Given the description of an element on the screen output the (x, y) to click on. 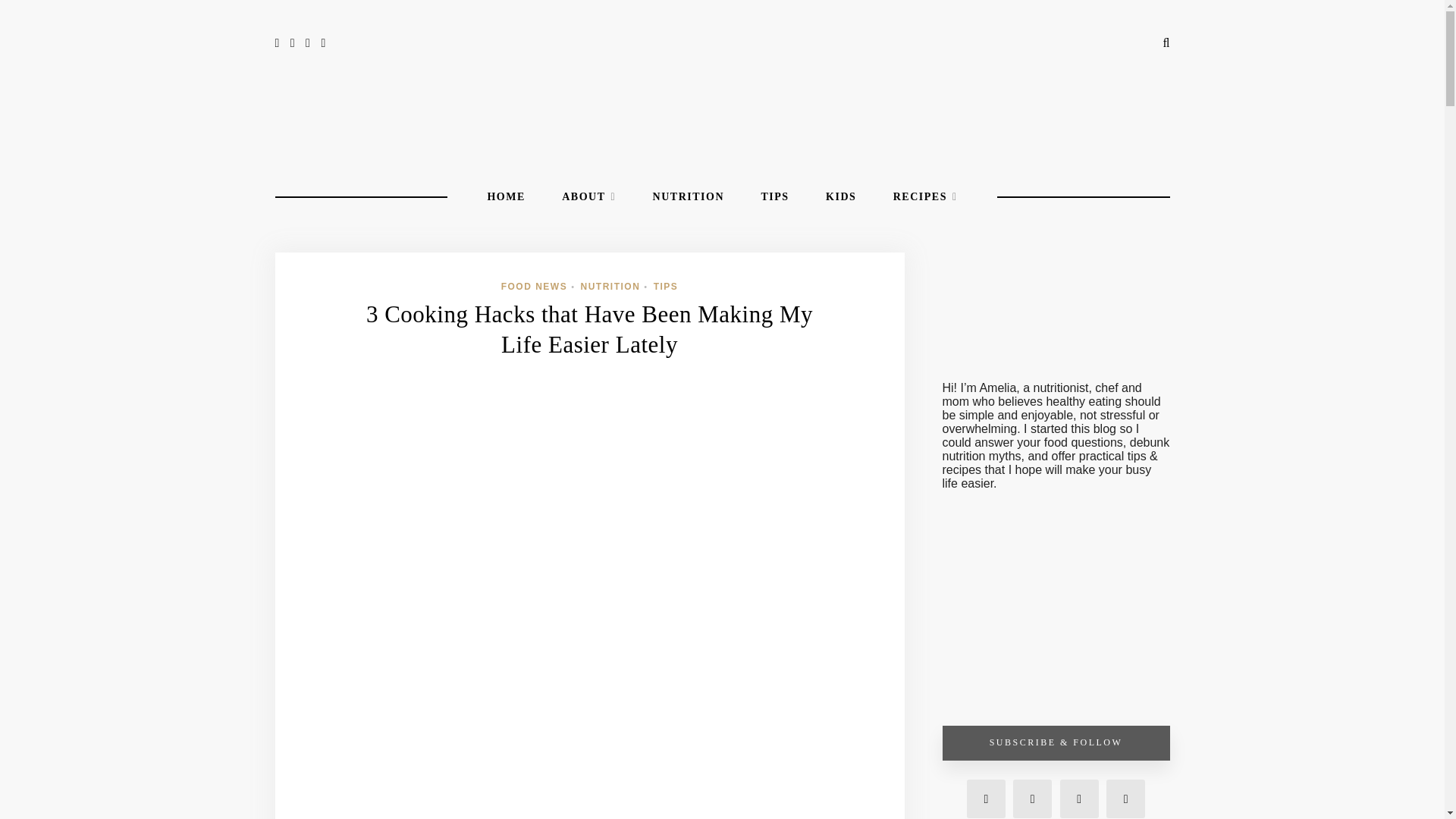
RECIPES (925, 196)
NUTRITION (610, 286)
TIPS (665, 286)
ABOUT (588, 196)
NUTRITION (687, 196)
HOME (505, 196)
FOOD NEWS (533, 286)
